Given the description of an element on the screen output the (x, y) to click on. 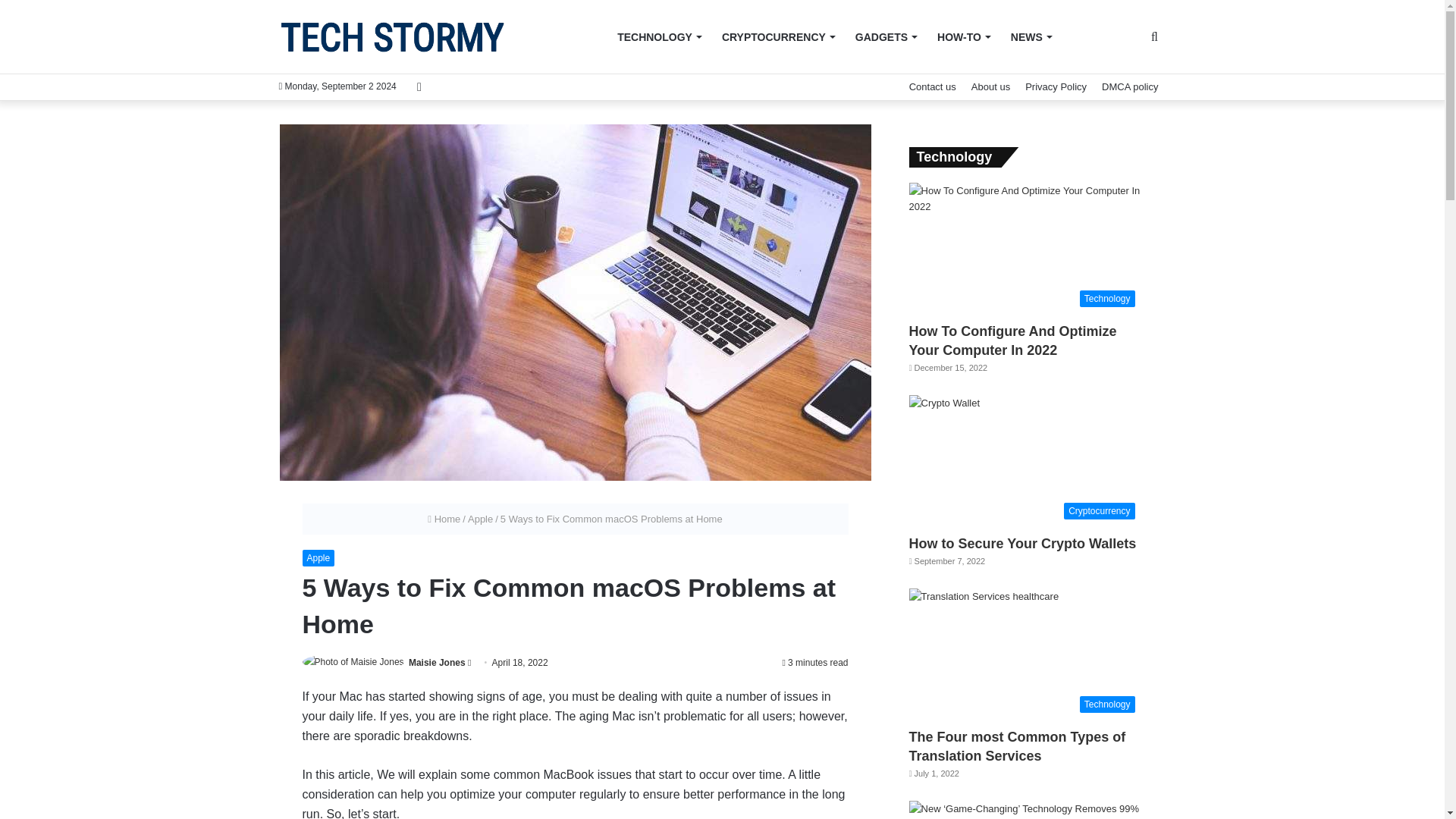
Home (444, 518)
About us (990, 86)
DMCA policy (1130, 86)
HOW-TO (963, 36)
CRYPTOCURRENCY (777, 36)
Apple (480, 518)
Privacy Policy (1055, 86)
Maisie Jones (437, 662)
GADGETS (885, 36)
Apple (317, 557)
